Given the description of an element on the screen output the (x, y) to click on. 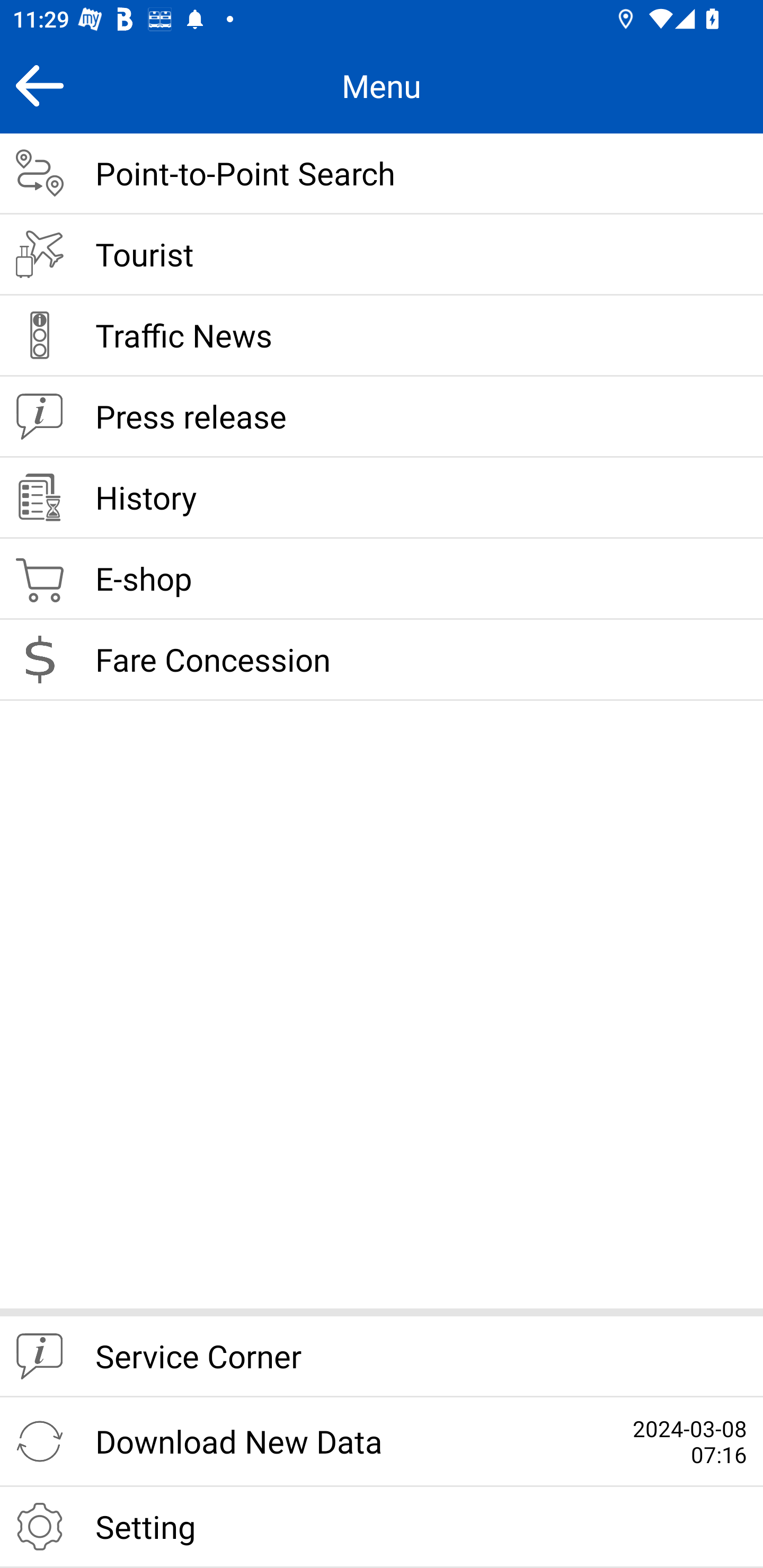
Back (39, 85)
Point-to-Point Search (381, 173)
Tourist (381, 255)
Traffic News (381, 336)
Press release (381, 416)
History (381, 498)
E-shop (381, 579)
Fare Concession (381, 659)
Service Corner (381, 1357)
Download New Data 2024-03-08
07:16 (381, 1441)
Setting (381, 1527)
